Given the description of an element on the screen output the (x, y) to click on. 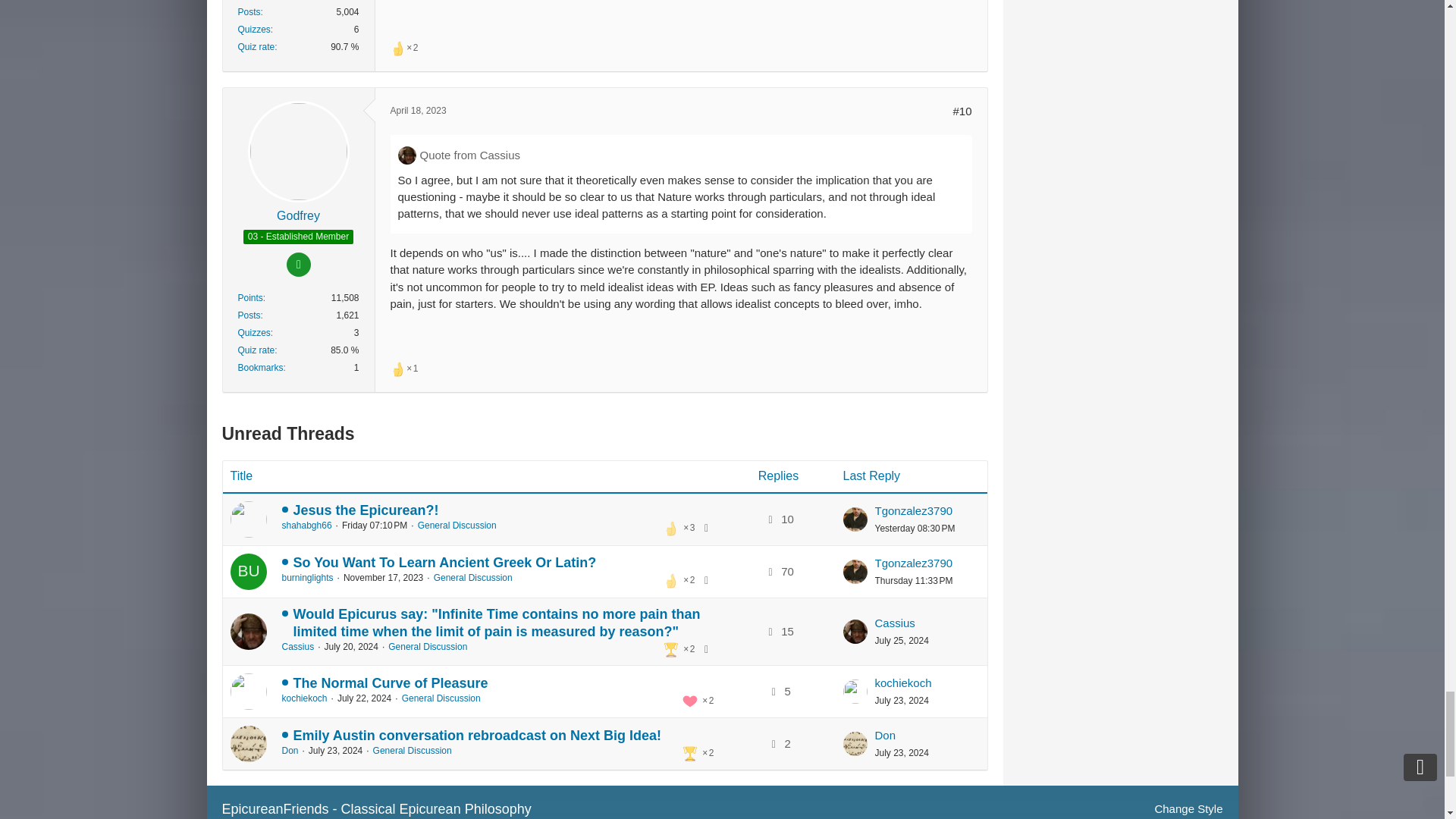
Double-Click to Mark This Thread Read (248, 743)
Double-Click to Mark This Thread Read (248, 571)
Double-Click to Mark This Thread Read (248, 519)
Double-Click to Mark This Thread Read (248, 691)
Double-Click to Mark This Thread Read (248, 631)
